Given the description of an element on the screen output the (x, y) to click on. 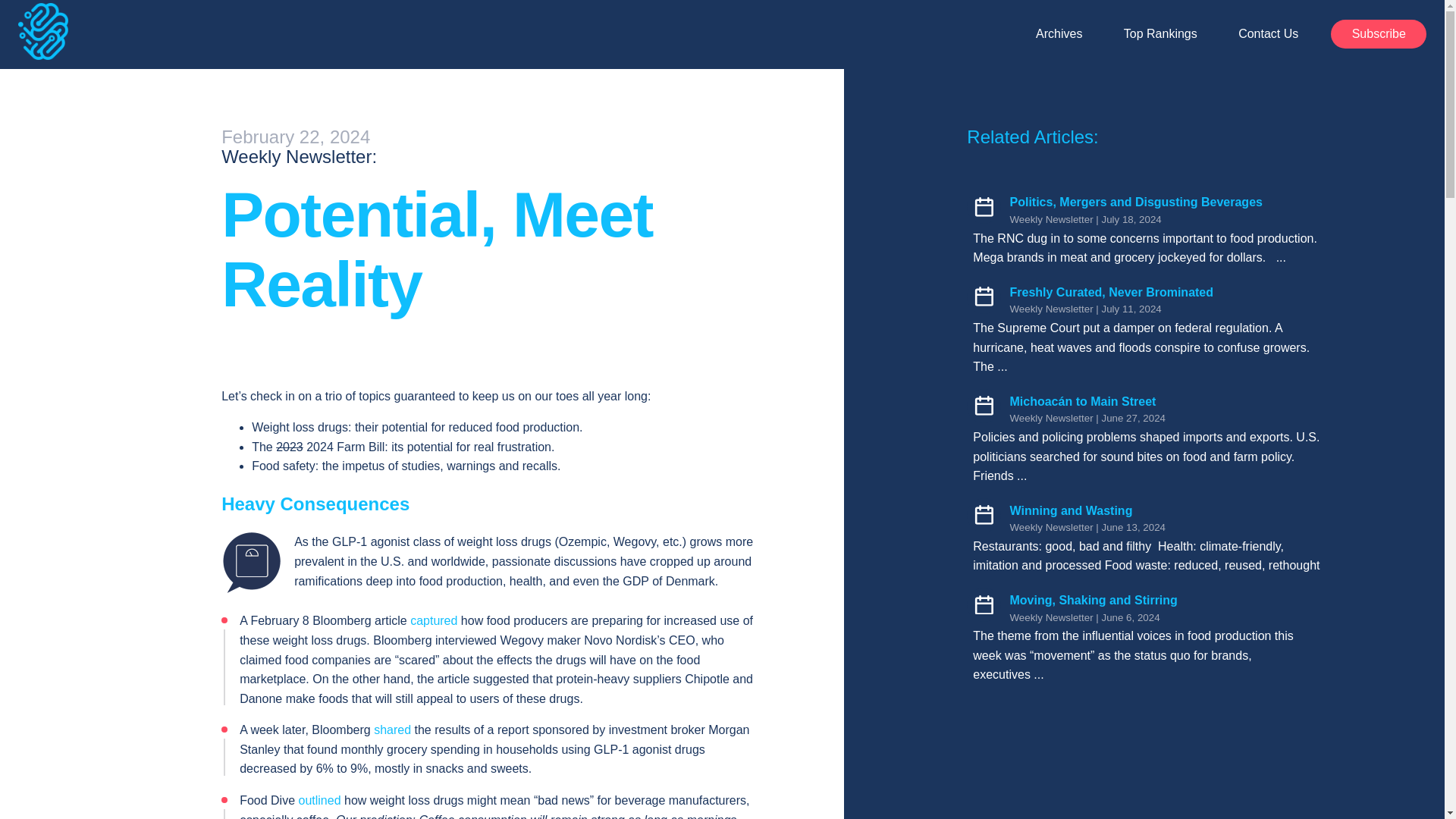
Archives (1058, 33)
Subscribe (1378, 33)
Contact Us (1268, 33)
shared (392, 729)
Top Rankings (1160, 33)
outlined (319, 799)
captured (433, 620)
